Given the description of an element on the screen output the (x, y) to click on. 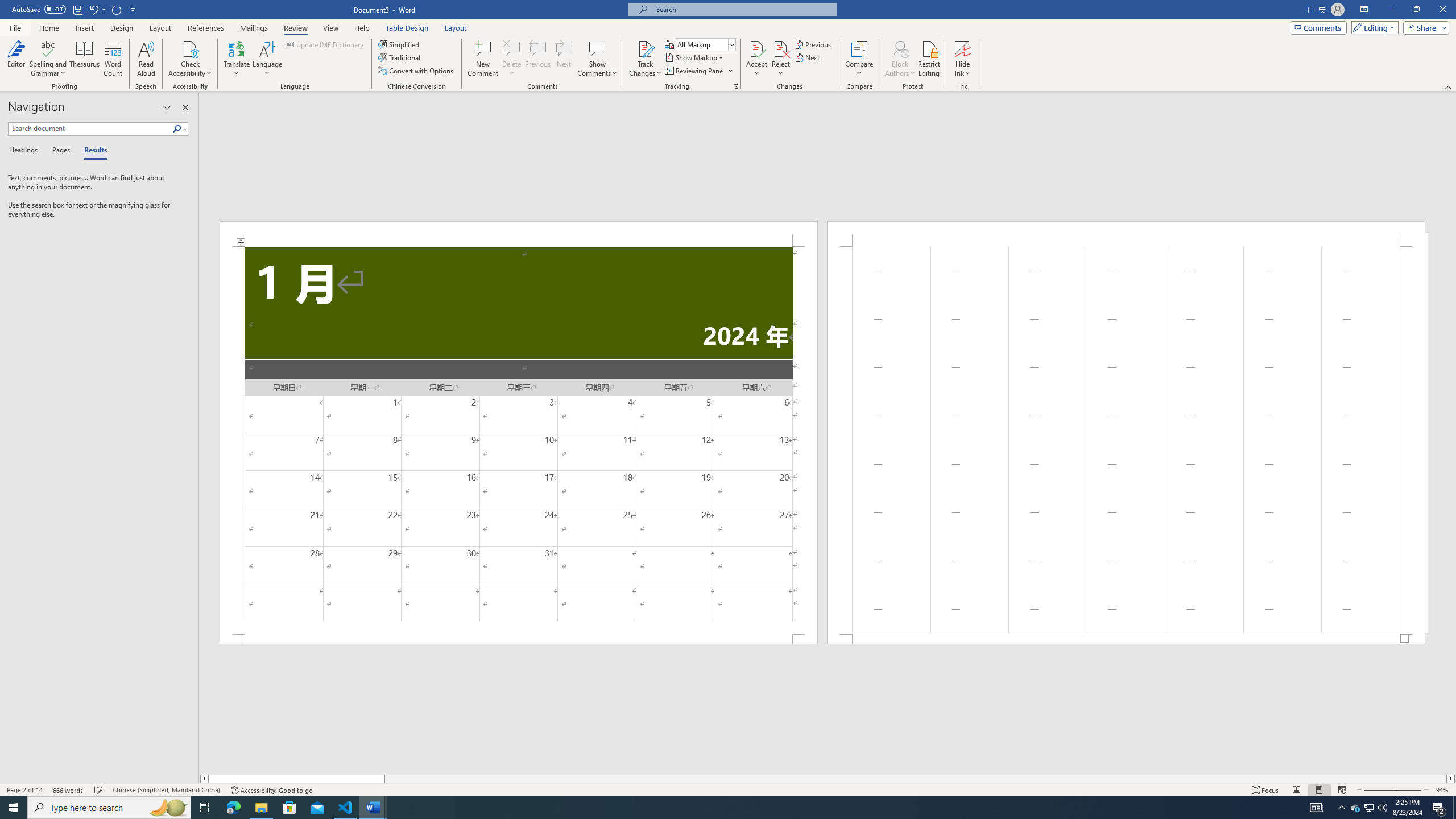
Translate (236, 58)
Next (808, 56)
